Given the description of an element on the screen output the (x, y) to click on. 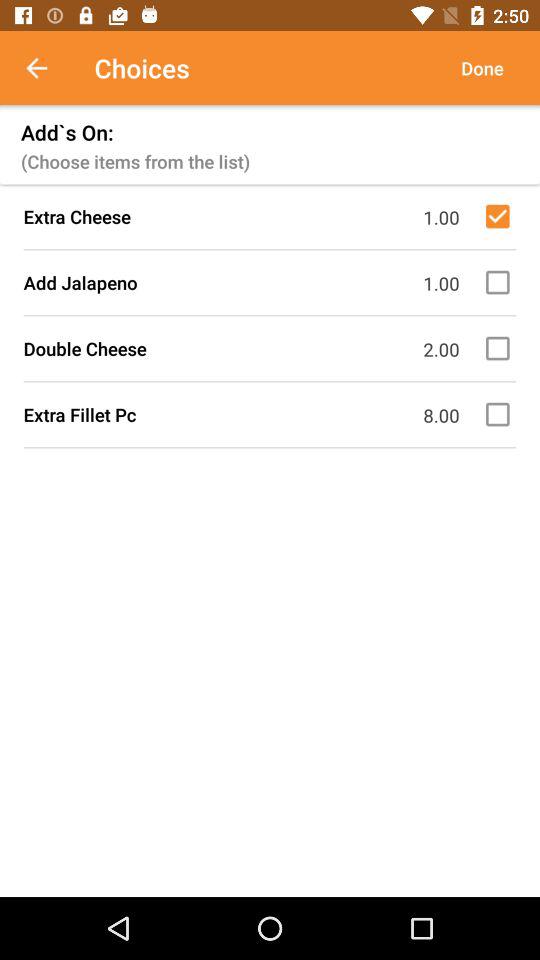
toggle extra fillet pc option (501, 414)
